Given the description of an element on the screen output the (x, y) to click on. 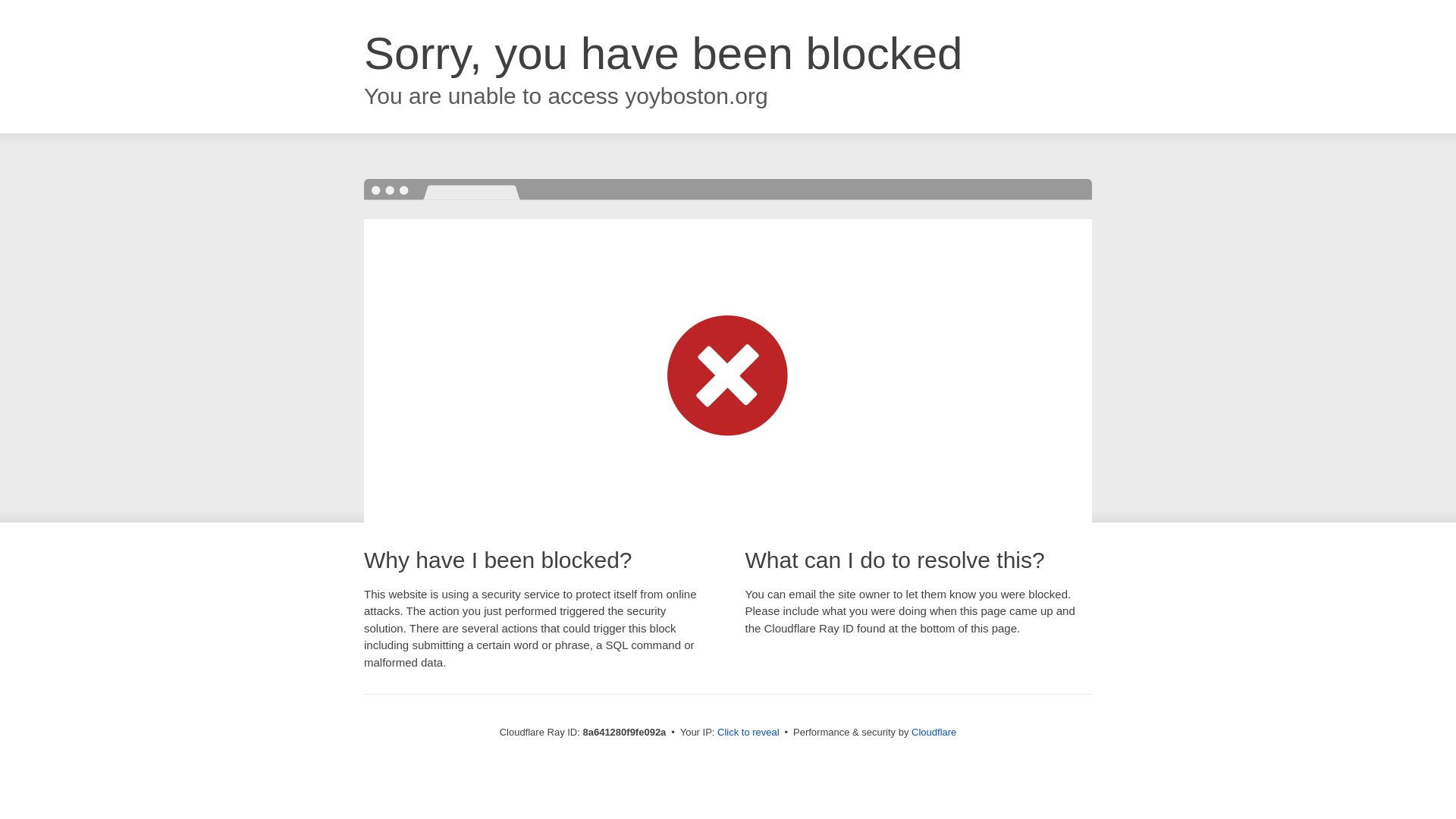
Click to reveal (747, 732)
Cloudflare (933, 731)
